Given the description of an element on the screen output the (x, y) to click on. 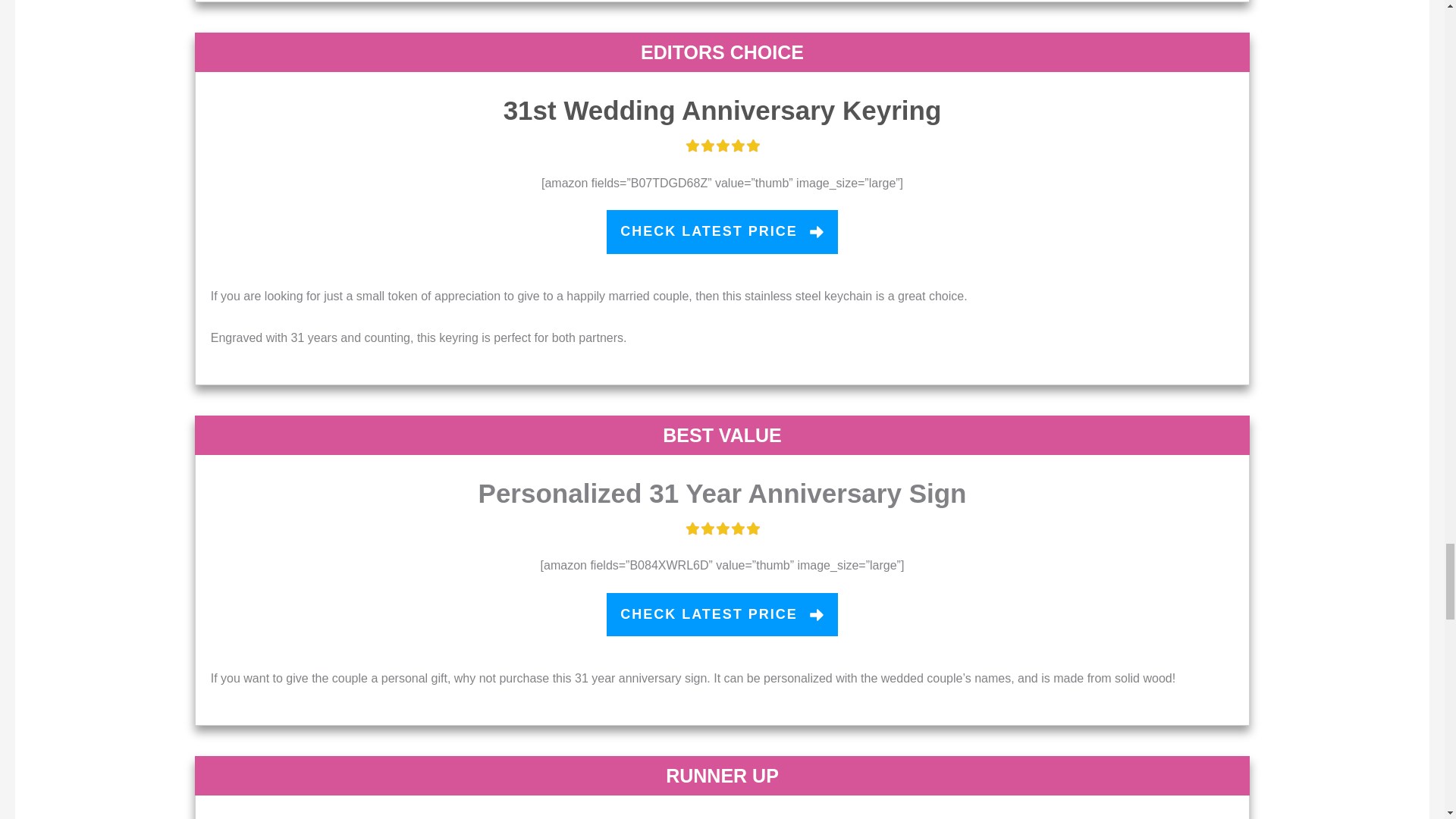
CHECK LATEST PRICE (722, 614)
Personalized 31 Year Anniversary Sign (722, 492)
CHECK LATEST PRICE (722, 231)
31st Wedding Anniversary Keyring (722, 110)
